Given the description of an element on the screen output the (x, y) to click on. 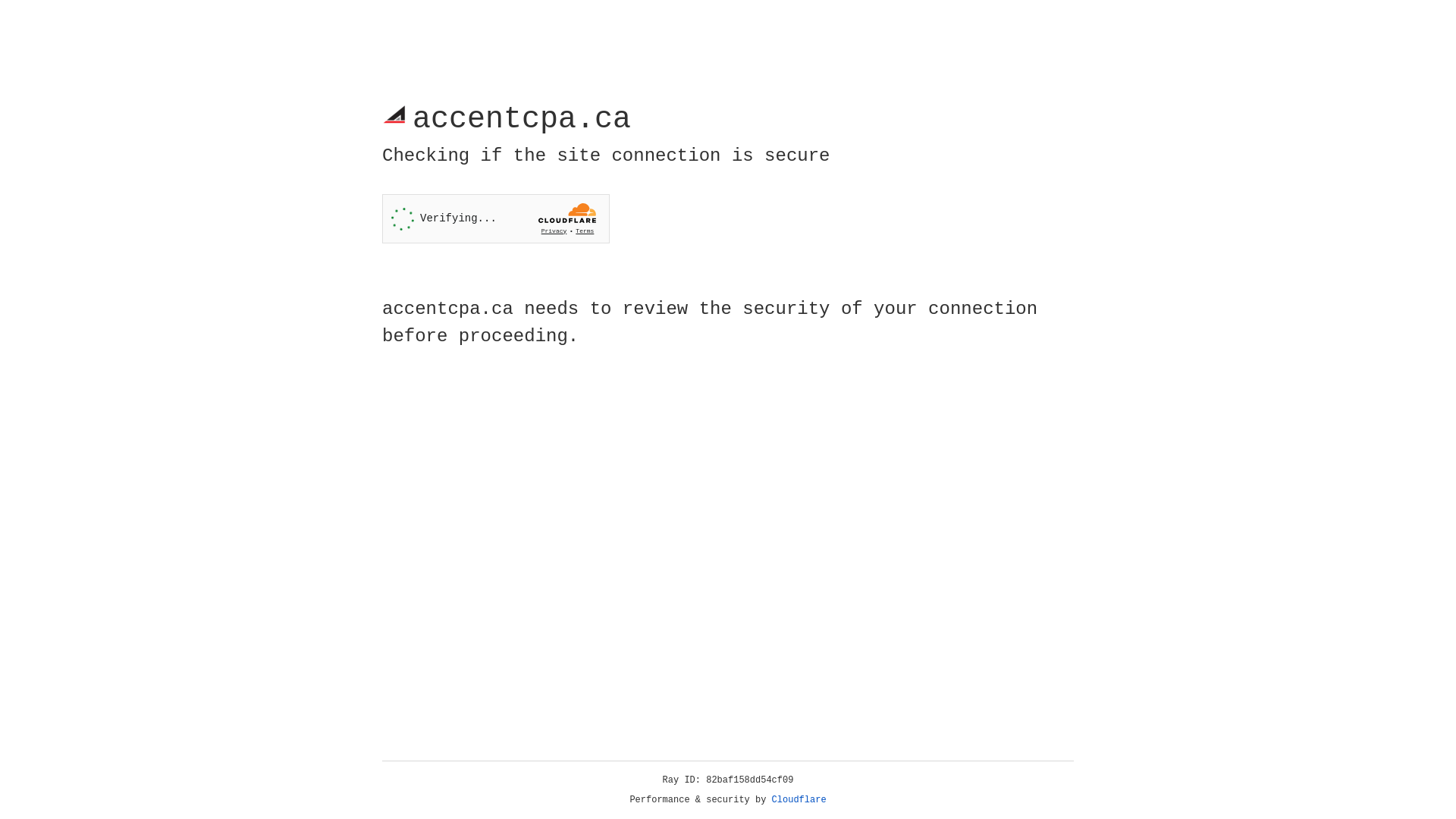
Cloudflare Element type: text (798, 799)
Widget containing a Cloudflare security challenge Element type: hover (495, 218)
